Given the description of an element on the screen output the (x, y) to click on. 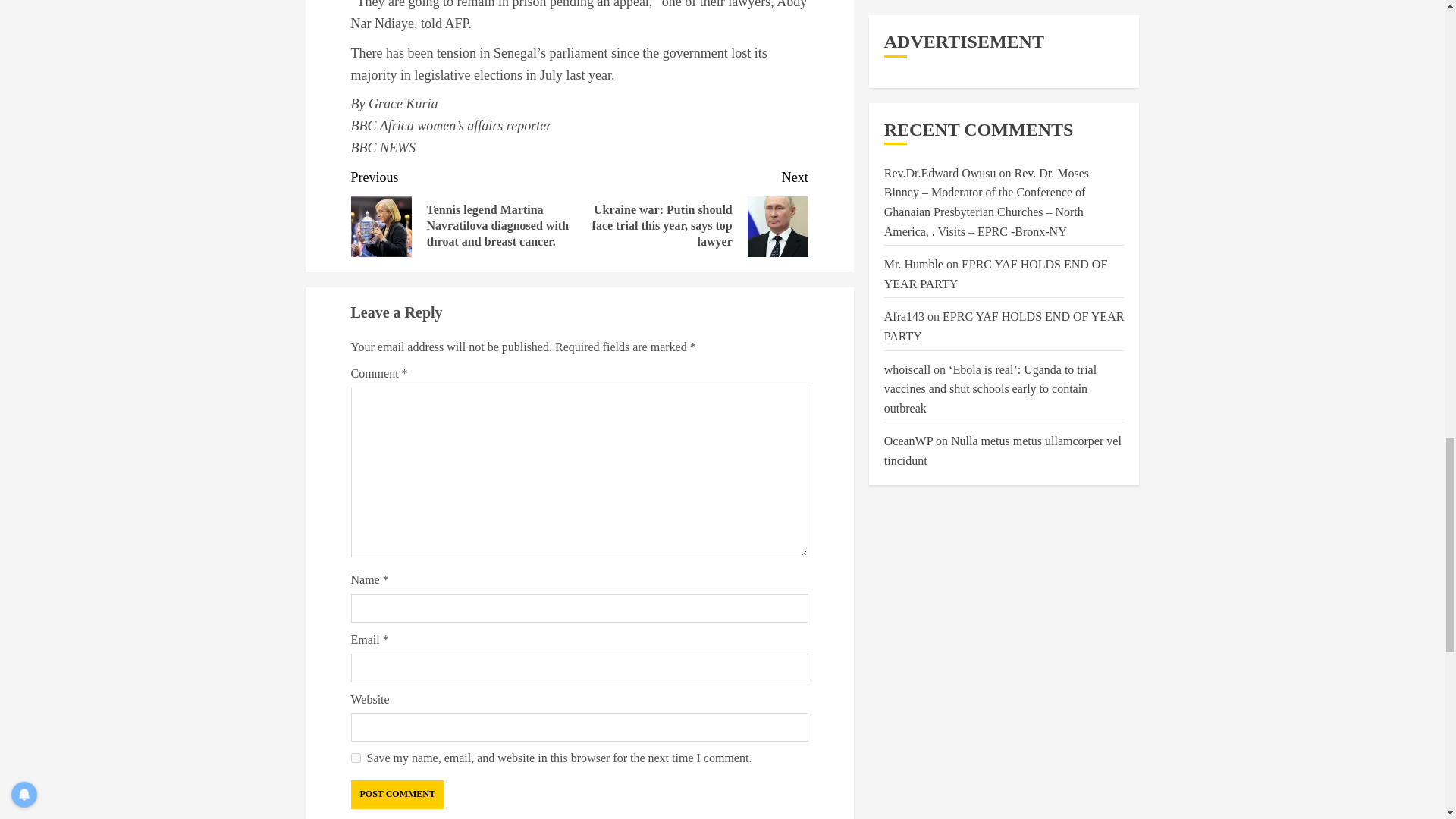
Post Comment (397, 794)
yes (354, 757)
